Given the description of an element on the screen output the (x, y) to click on. 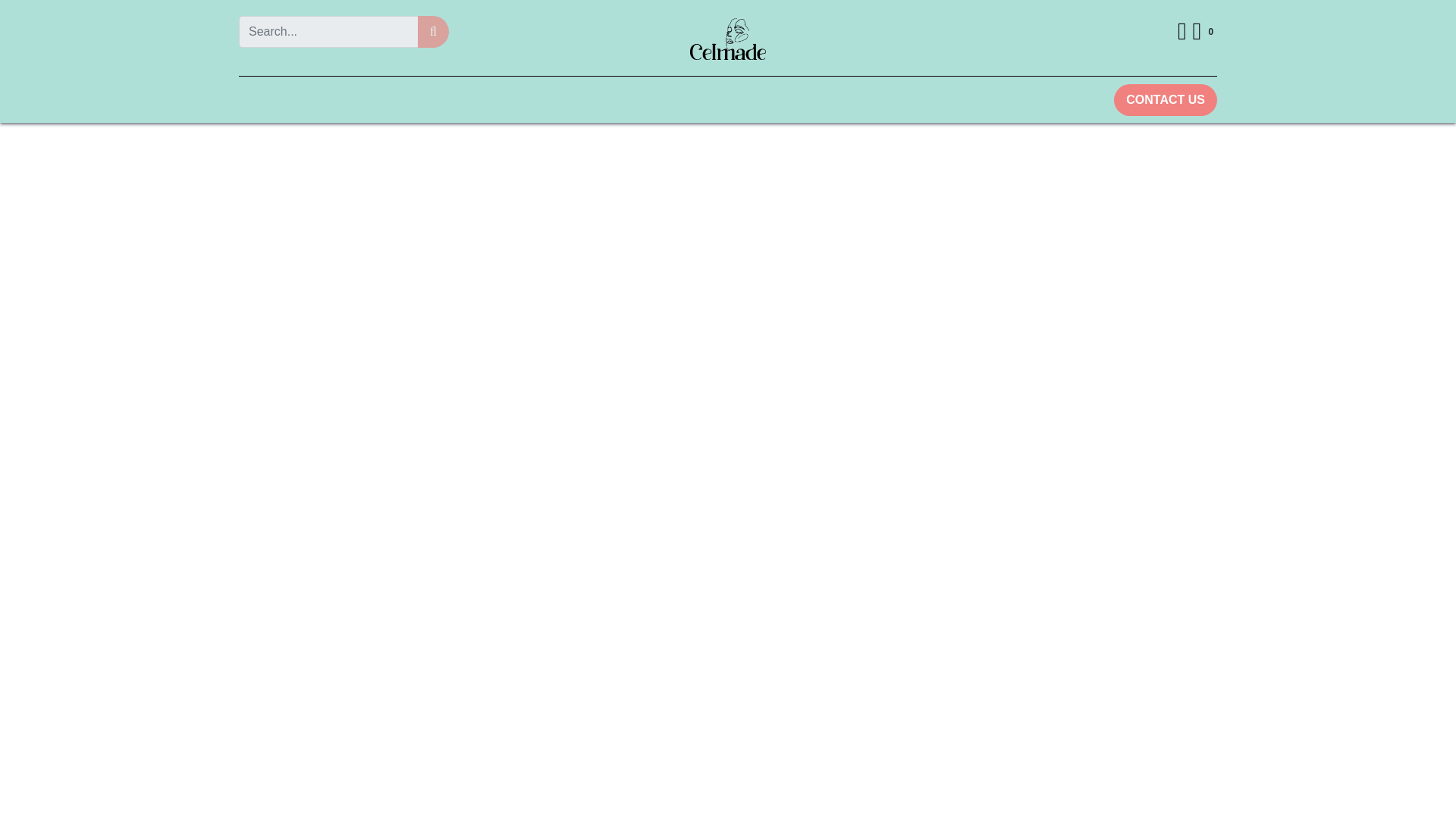
Search (432, 31)
Celmade (727, 38)
0 (1204, 31)
